Given the description of an element on the screen output the (x, y) to click on. 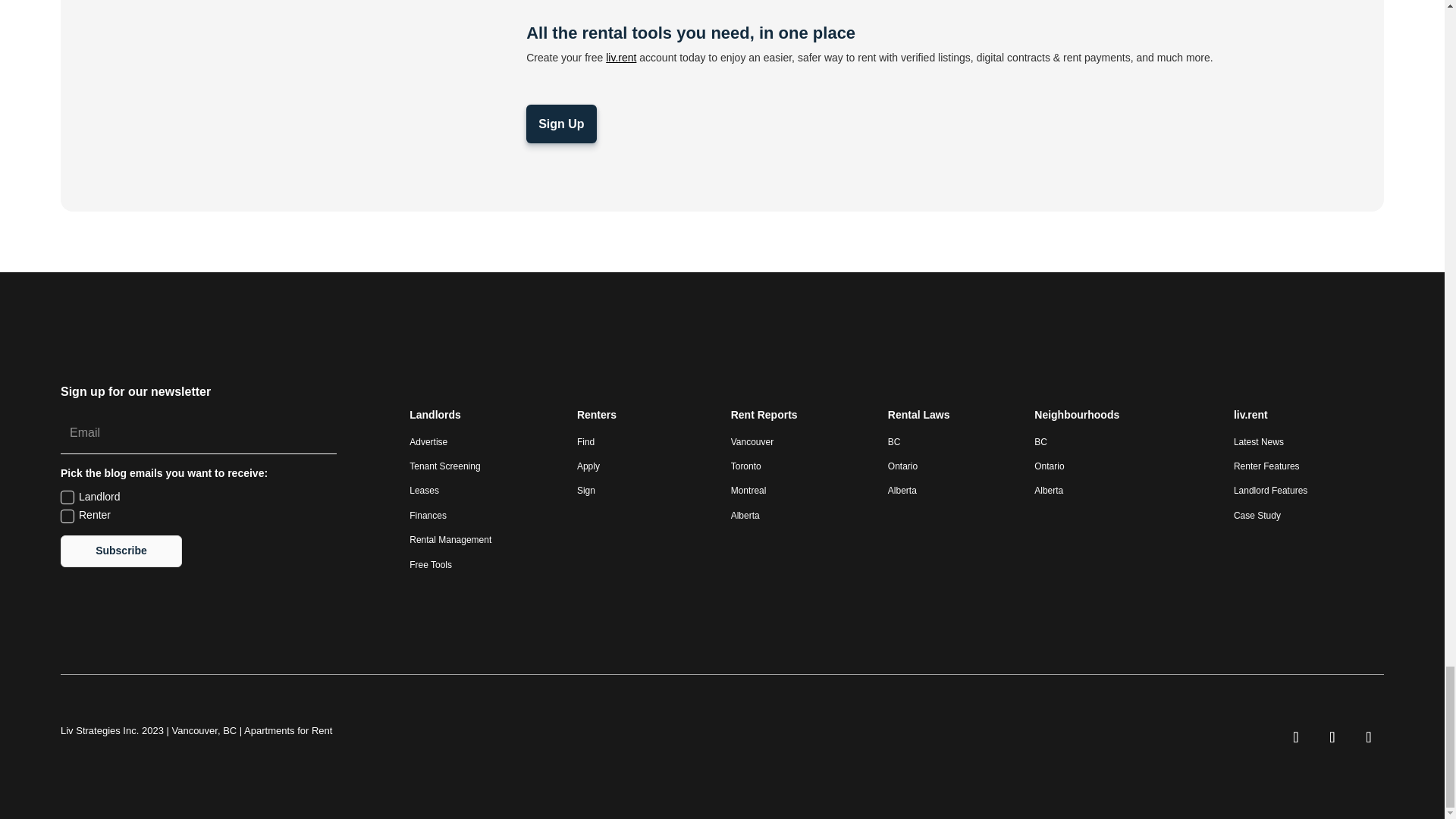
Follow on Instagram (1332, 736)
Follow on Facebook (1369, 736)
liv-logo-white (85, 343)
Employment verification (292, 90)
Follow on Twitter (1296, 736)
